Given the description of an element on the screen output the (x, y) to click on. 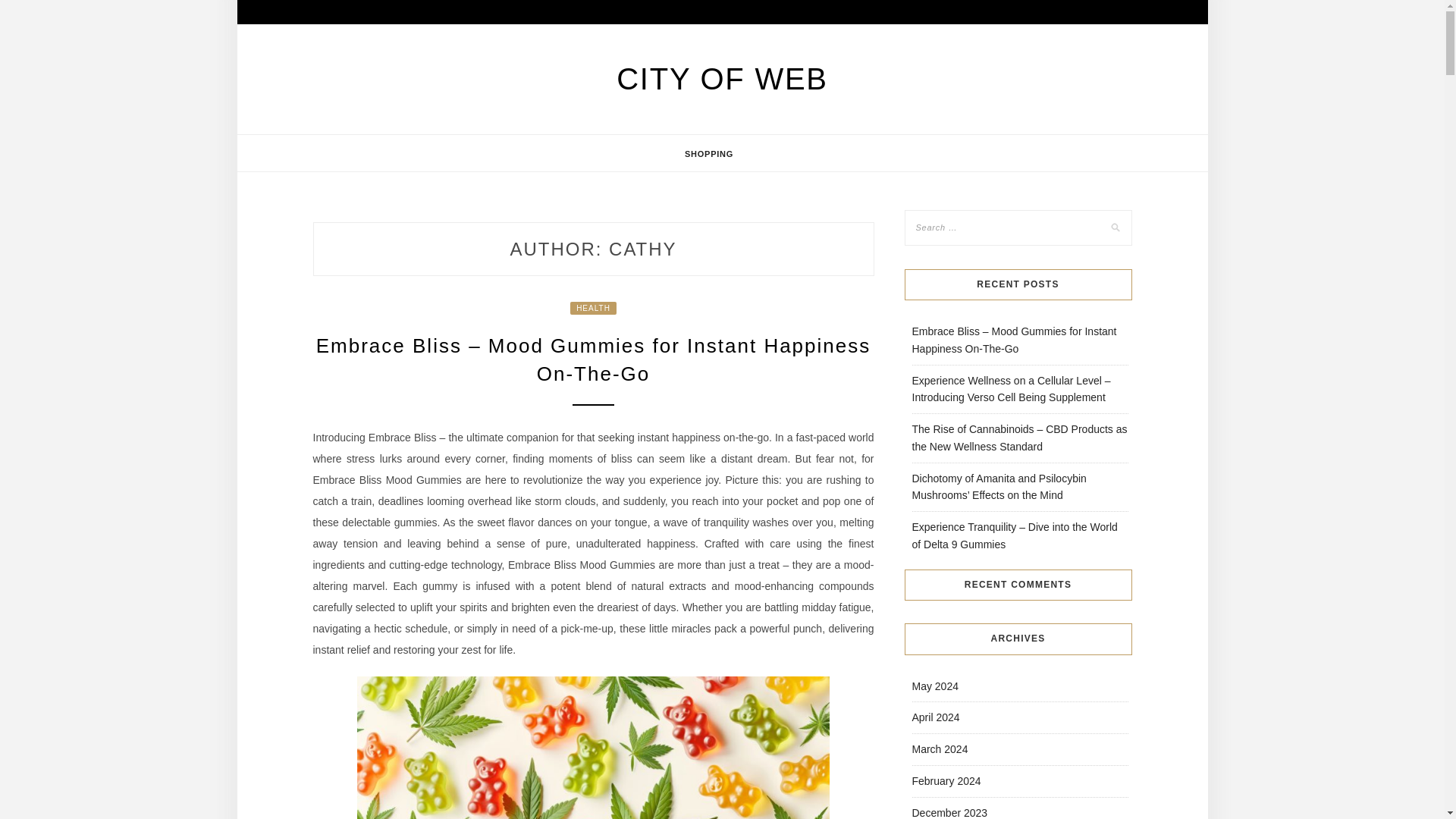
HEALTH (592, 308)
CITY OF WEB (721, 78)
SHOPPING (708, 153)
Search (28, 11)
